Given the description of an element on the screen output the (x, y) to click on. 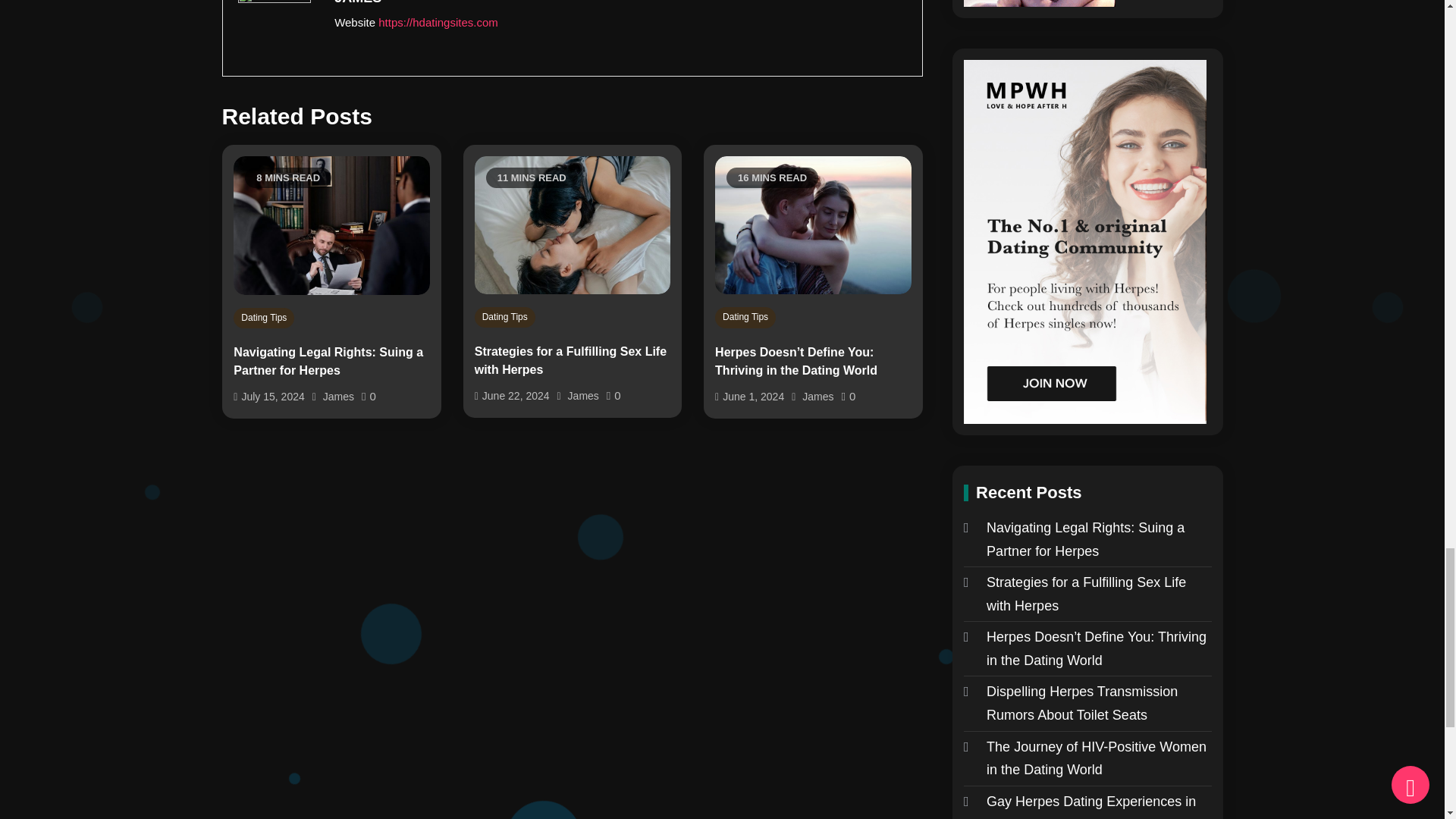
Strategies for a Fulfilling Sex Life with Herpes (572, 361)
James (817, 396)
James (582, 395)
Posts by James (618, 4)
June 1, 2024 (753, 396)
Navigating Legal Rights: Suing a Partner for Herpes (330, 361)
Dating Tips (263, 318)
James (338, 396)
July 15, 2024 (272, 396)
June 22, 2024 (515, 395)
Dating Tips (504, 317)
Dating Tips (745, 317)
JAMES (618, 4)
